Given the description of an element on the screen output the (x, y) to click on. 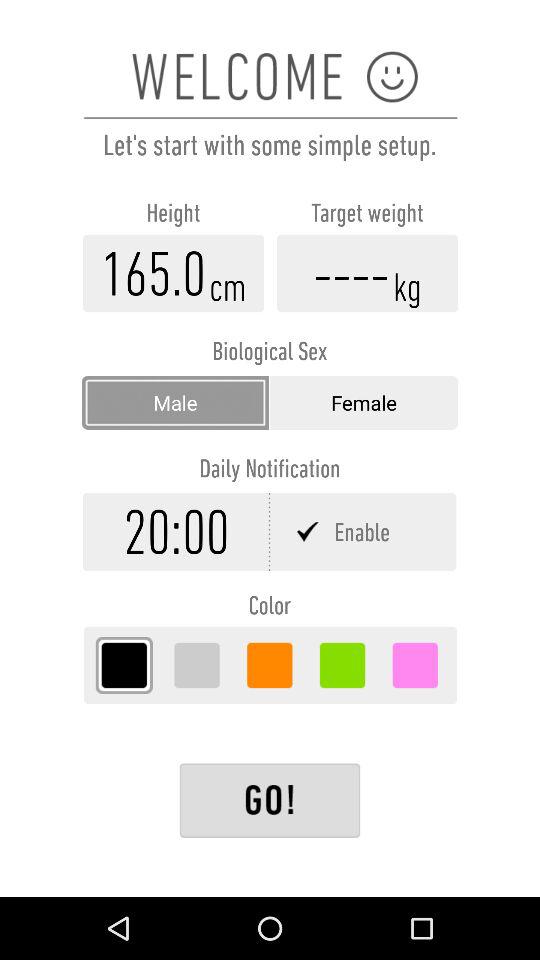
save settings (269, 800)
